Given the description of an element on the screen output the (x, y) to click on. 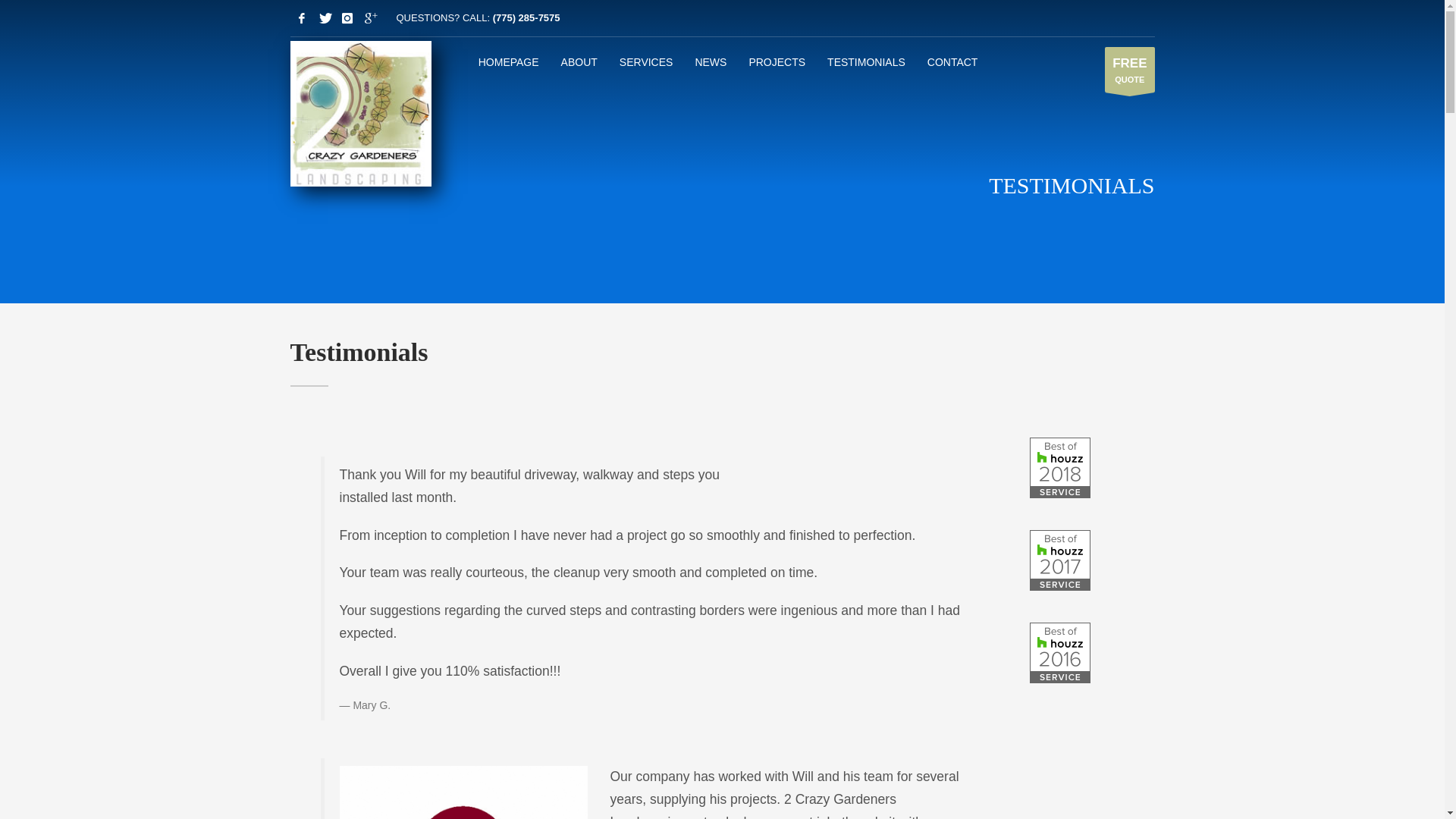
ABOUT Element type: text (579, 62)
Instagram Element type: hover (346, 17)
(775) 285-7575 Element type: text (526, 17)
NEWS Element type: text (710, 62)
SERVICES Element type: text (646, 62)
Facebook Element type: hover (300, 17)
TESTIMONIALS Element type: text (866, 62)
FREE
QUOTE Element type: text (1129, 69)
PROJECTS Element type: text (776, 62)
Twitter Element type: hover (323, 17)
CONTACT Element type: text (952, 62)
HOMEPAGE Element type: text (508, 62)
2 Crazy Gardeners Element type: hover (359, 113)
Google Plus Element type: hover (368, 17)
